Given the description of an element on the screen output the (x, y) to click on. 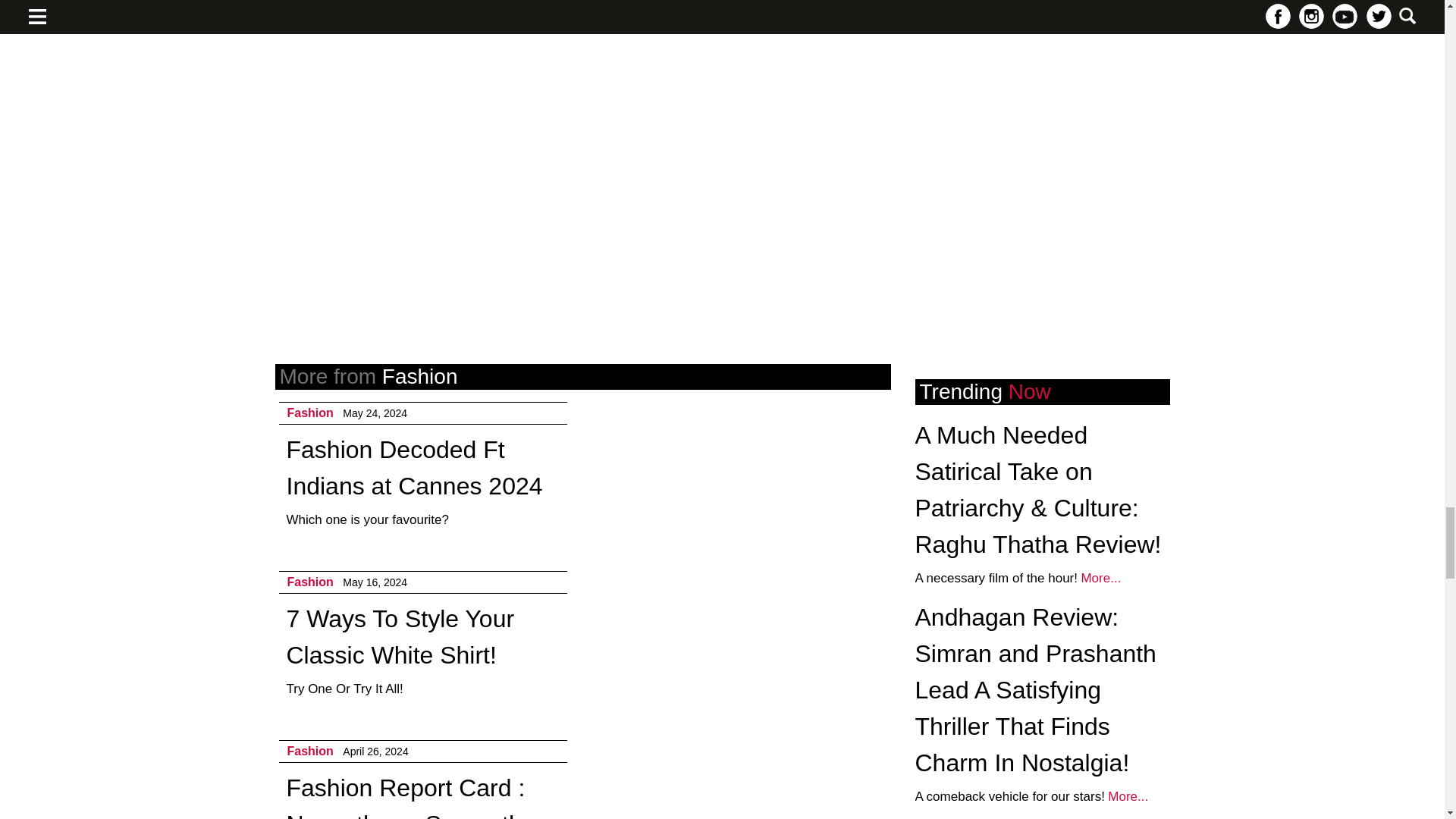
Fashion (309, 750)
Fashion (309, 581)
Fashion (309, 412)
